Given the description of an element on the screen output the (x, y) to click on. 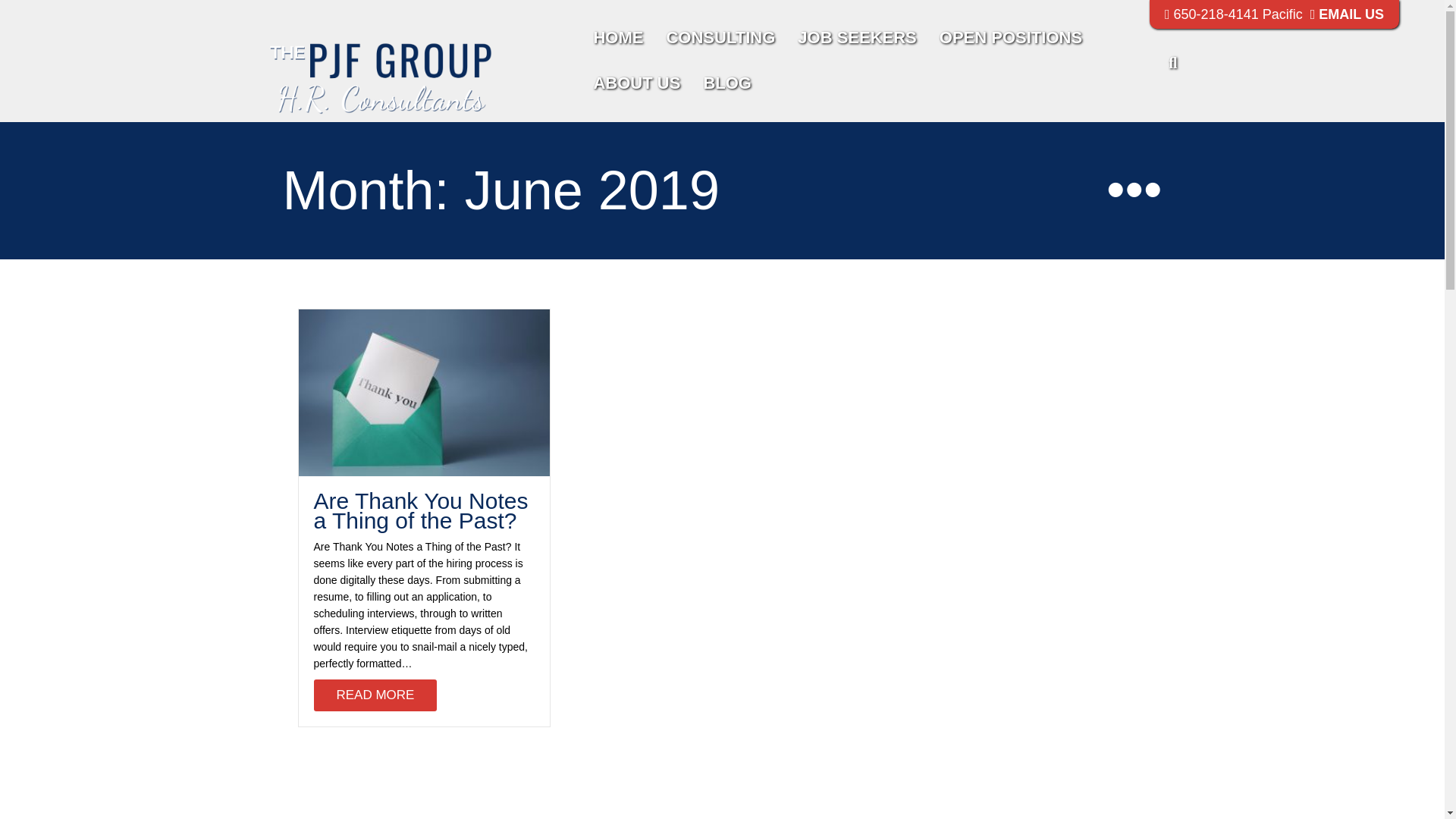
ABOUT US (635, 83)
READ MORE (376, 695)
Are Thank You Notes a Thing of the Past? (424, 391)
Are Thank You Notes a Thing of the Past? (421, 510)
EMAIL US (1347, 14)
JOB SEEKERS (857, 38)
HOME (616, 38)
Are Thank You Notes a Thing of the Past? (376, 695)
BLOG (726, 83)
Are Thank You Notes a Thing of the Past? (421, 510)
OPEN POSITIONS (1010, 38)
CONSULTING (719, 38)
650-218-4141 Pacific (1233, 14)
